Given the description of an element on the screen output the (x, y) to click on. 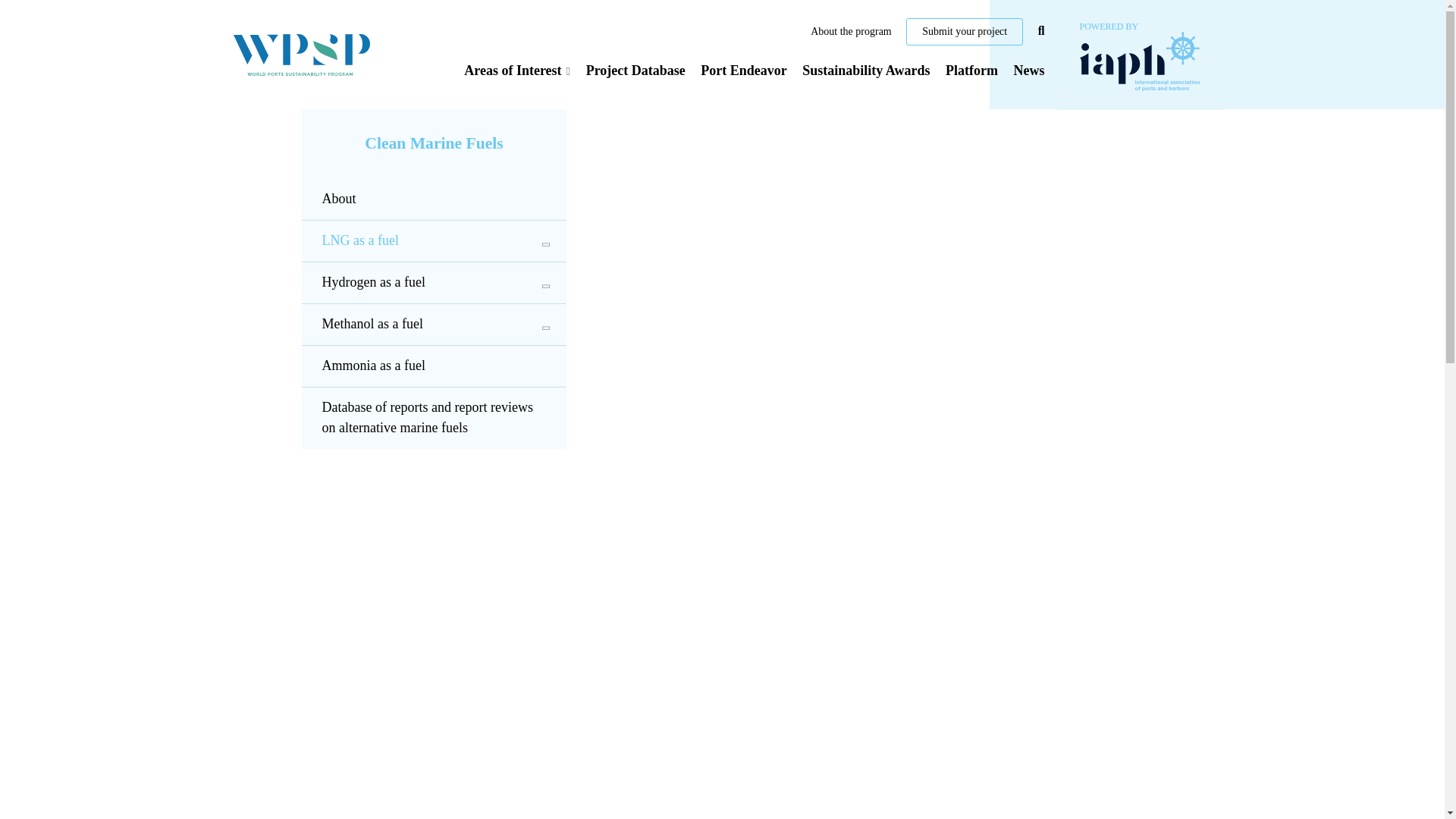
Submit your project (964, 31)
LNG as a fuel (434, 240)
Ammonia as a fuel (434, 365)
IAPH World Ports (1139, 54)
Clean Marine Fuels (433, 143)
World Port Sustainability Program (301, 55)
Project Database (635, 70)
Areas of Interest (517, 70)
Hydrogen as a fuel (434, 282)
Methanol as a fuel (434, 323)
Clean Marine Fuels (433, 143)
POWERED BY (1139, 54)
Sustainability Awards (866, 70)
About (434, 199)
